Given the description of an element on the screen output the (x, y) to click on. 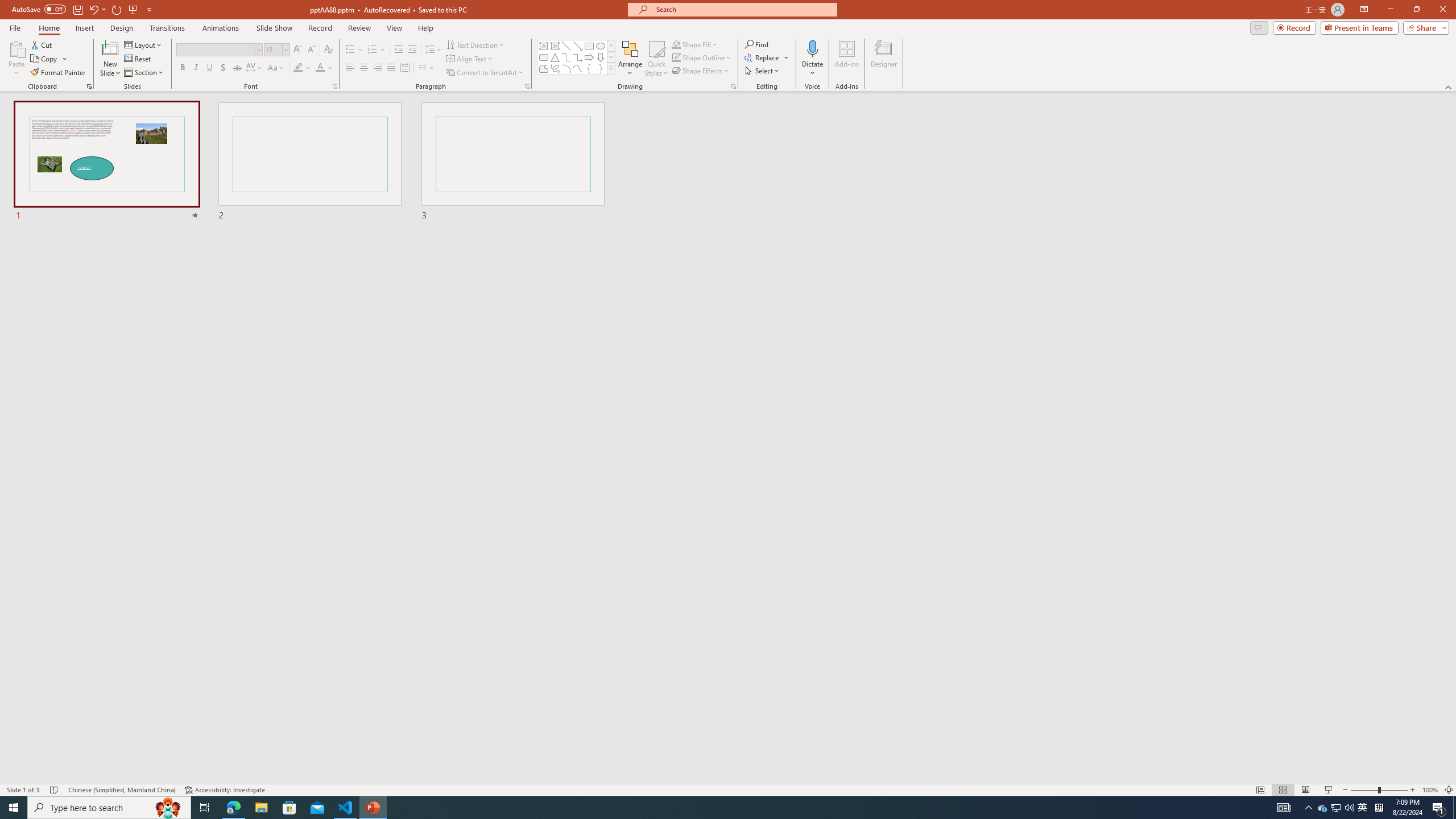
Select (762, 69)
Zoom to Fit  (1449, 790)
Reading View (1305, 790)
Zoom Out (1364, 790)
Bold (182, 67)
Zoom In (1412, 790)
Rectangle: Rounded Corners (543, 57)
Font Color (324, 67)
Arc (566, 68)
Find... (756, 44)
Vertical Text Box (554, 45)
AutoSave (38, 9)
Home (48, 28)
Row Down (611, 56)
